Given the description of an element on the screen output the (x, y) to click on. 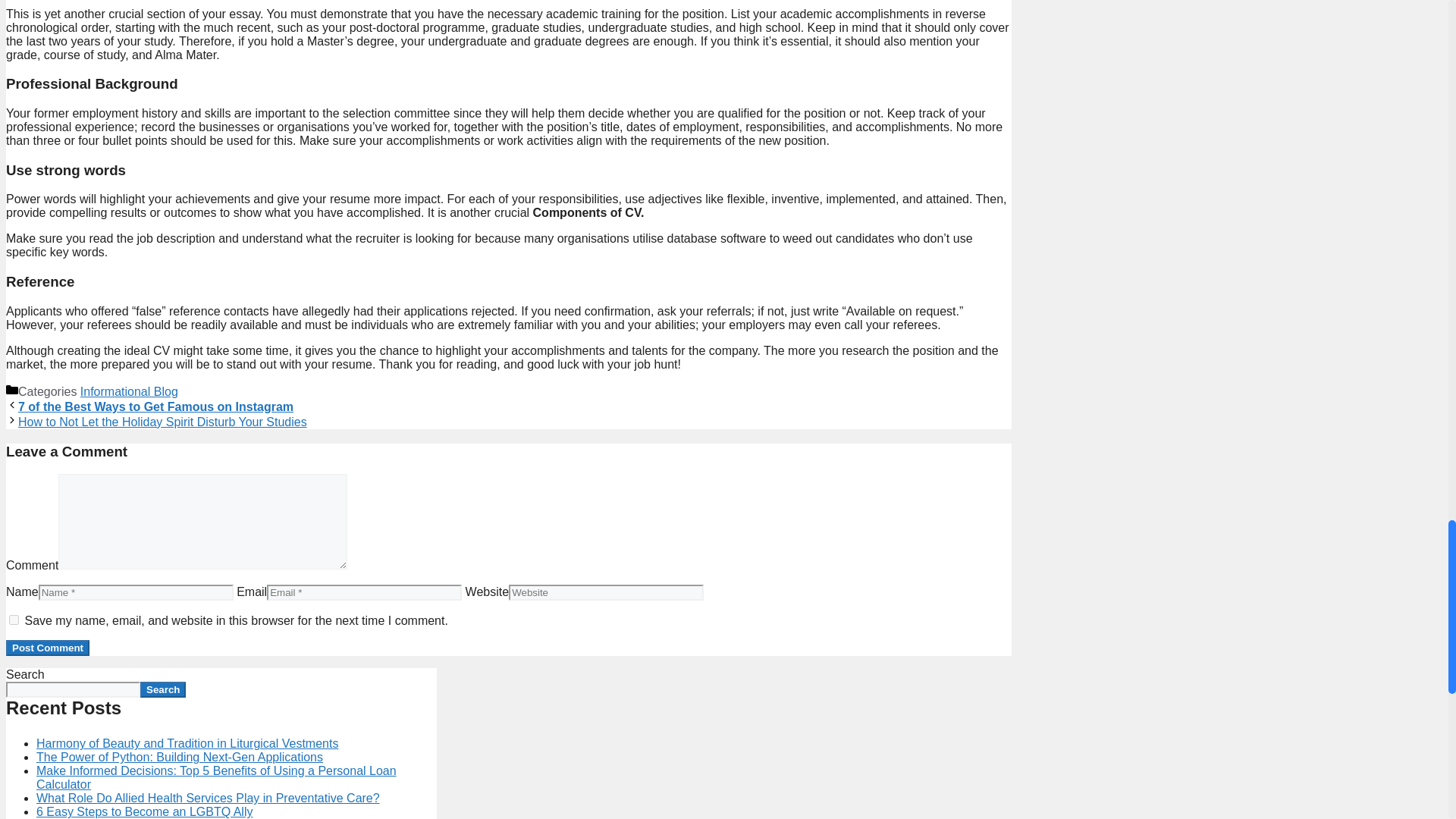
Informational Blog (128, 391)
Post Comment (46, 647)
Harmony of Beauty and Tradition in Liturgical Vestments (186, 743)
Post Comment (46, 647)
The Power of Python: Building Next-Gen Applications (179, 757)
How to Not Let the Holiday Spirit Disturb Your Studies (162, 421)
yes (13, 619)
6 Easy Steps to Become an LGBTQ Ally (143, 811)
